Given the description of an element on the screen output the (x, y) to click on. 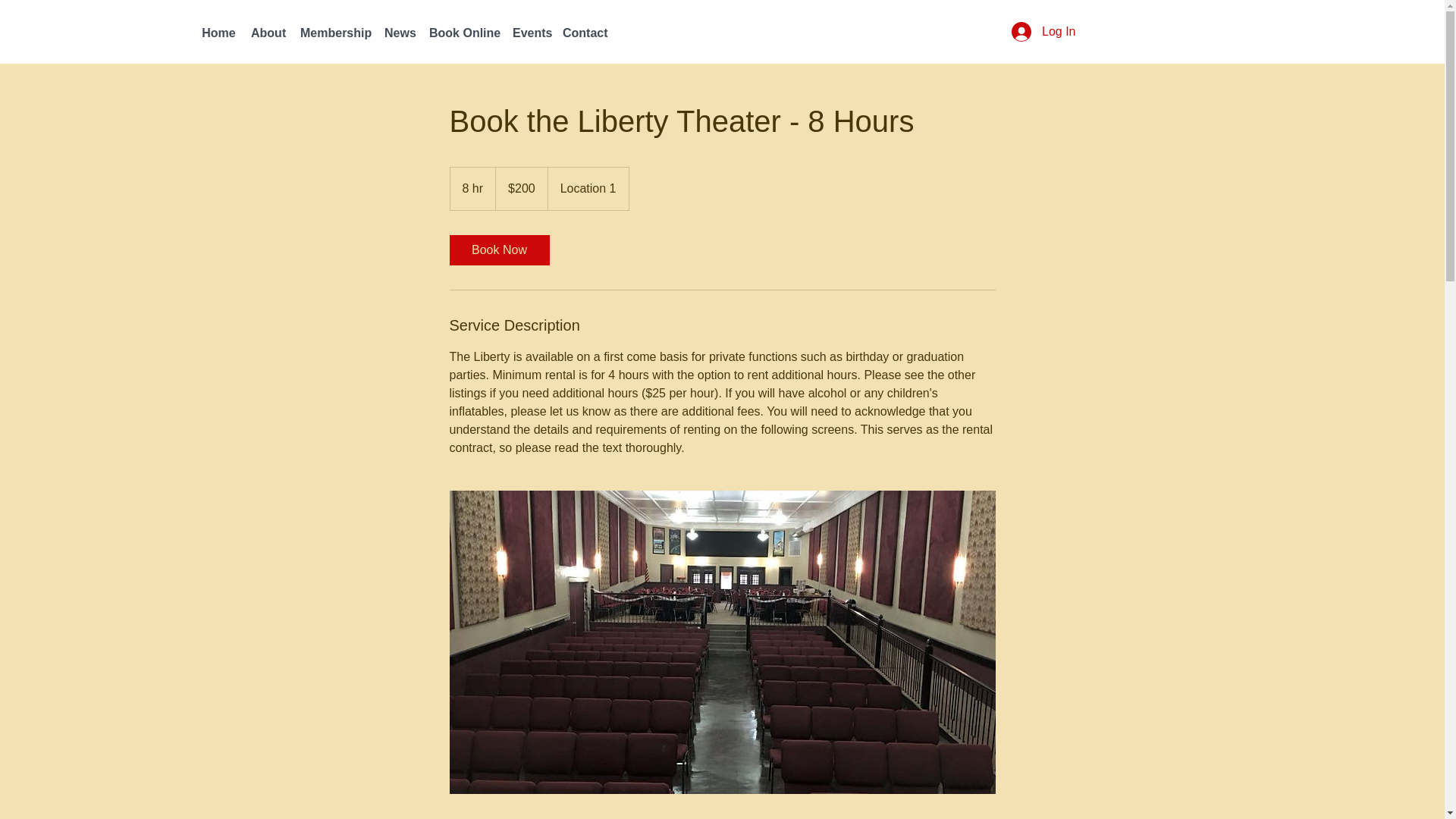
Contact (583, 33)
Book Online (463, 33)
About (267, 33)
Book Now (498, 250)
Home (218, 33)
Membership (334, 33)
Events (529, 33)
News (399, 33)
Log In (1043, 31)
